Given the description of an element on the screen output the (x, y) to click on. 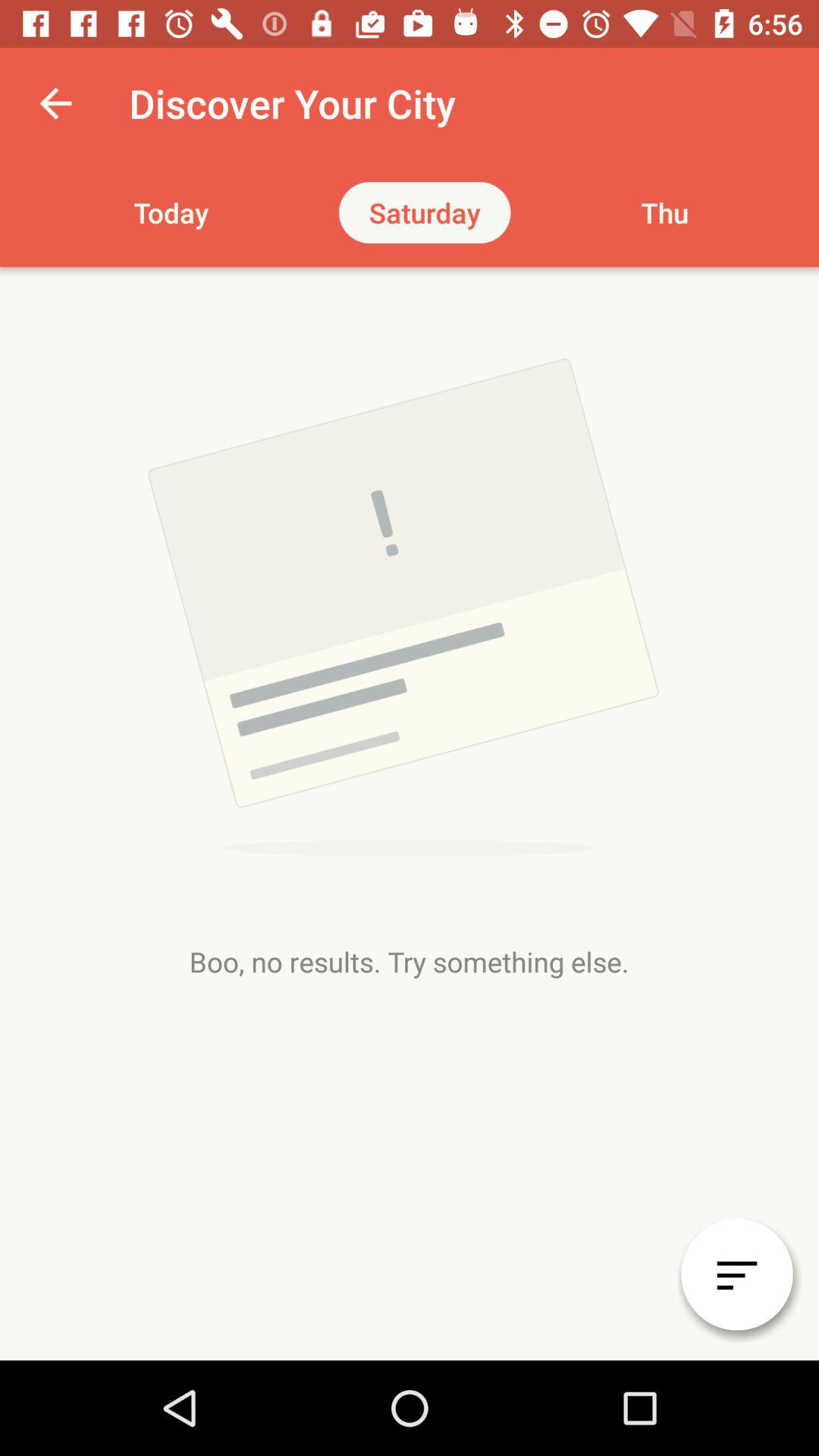
turn on icon to the left of the  discover your city app (55, 103)
